Given the description of an element on the screen output the (x, y) to click on. 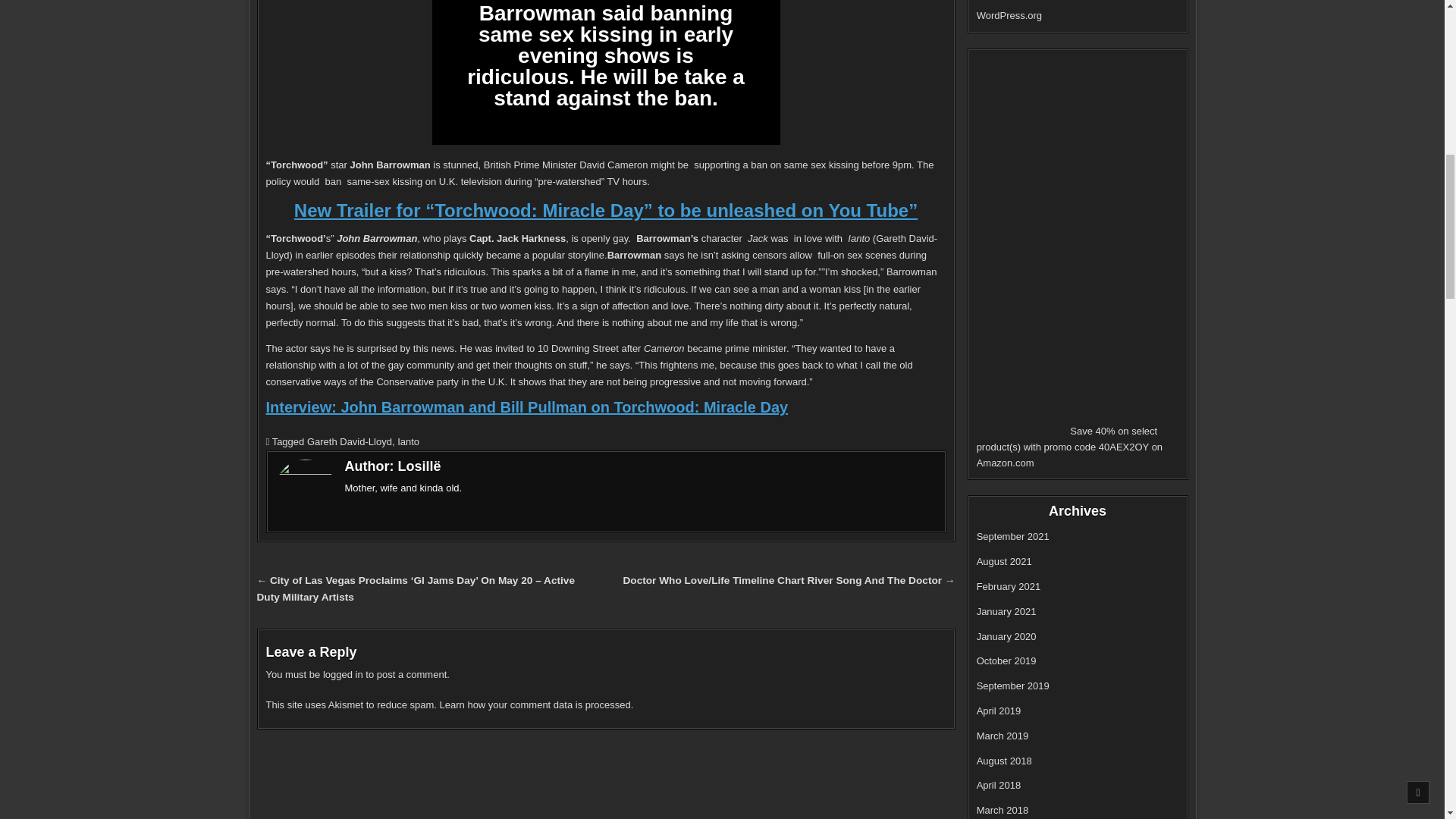
Learn how your comment data is processed (534, 704)
logged in (342, 674)
Gareth David-Lloyd (349, 441)
Ianto (408, 441)
